Given the description of an element on the screen output the (x, y) to click on. 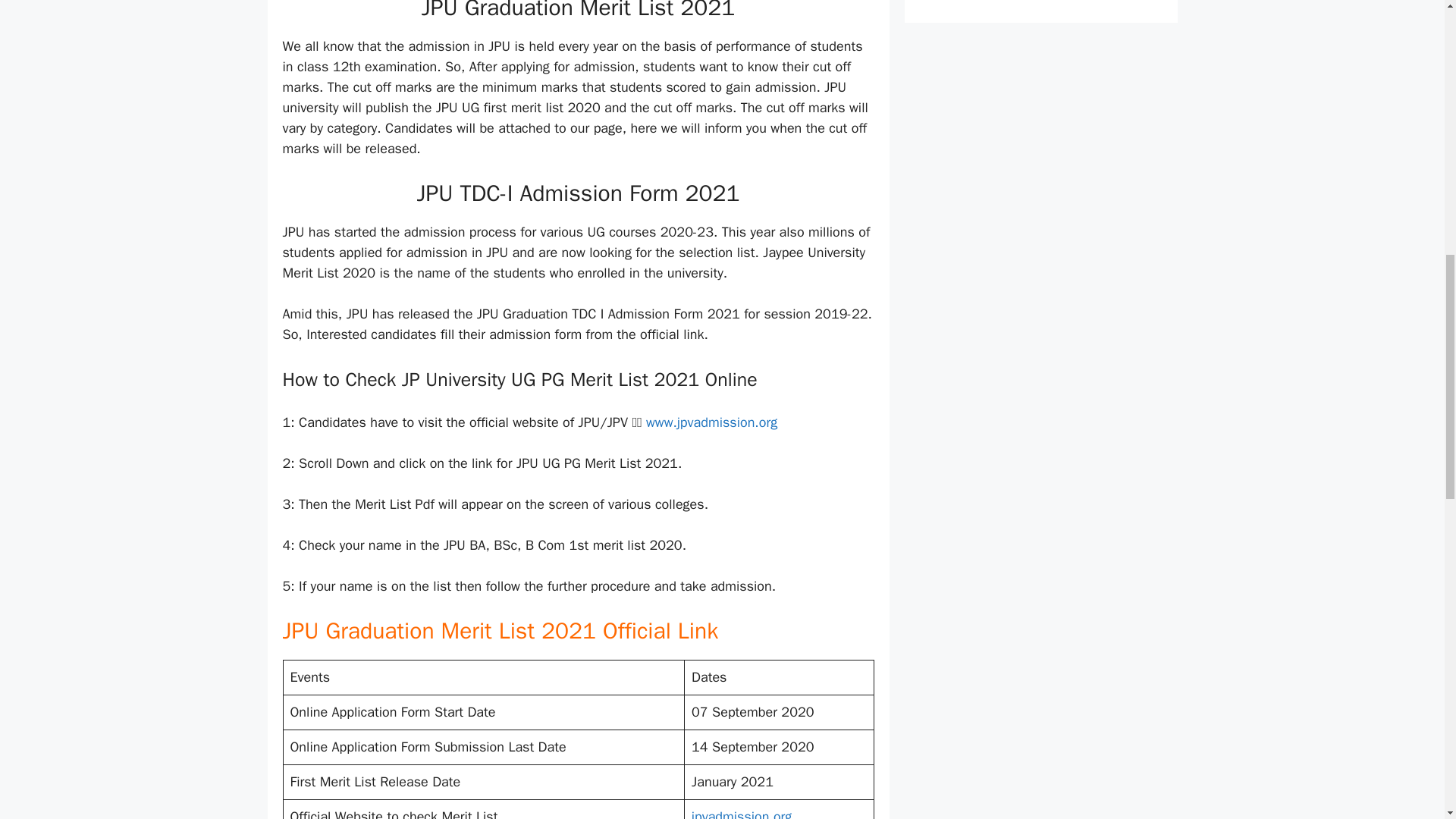
jpvadmission.org (741, 813)
Scroll back to top (1406, 720)
www.jpvadmission.org (711, 422)
